Given the description of an element on the screen output the (x, y) to click on. 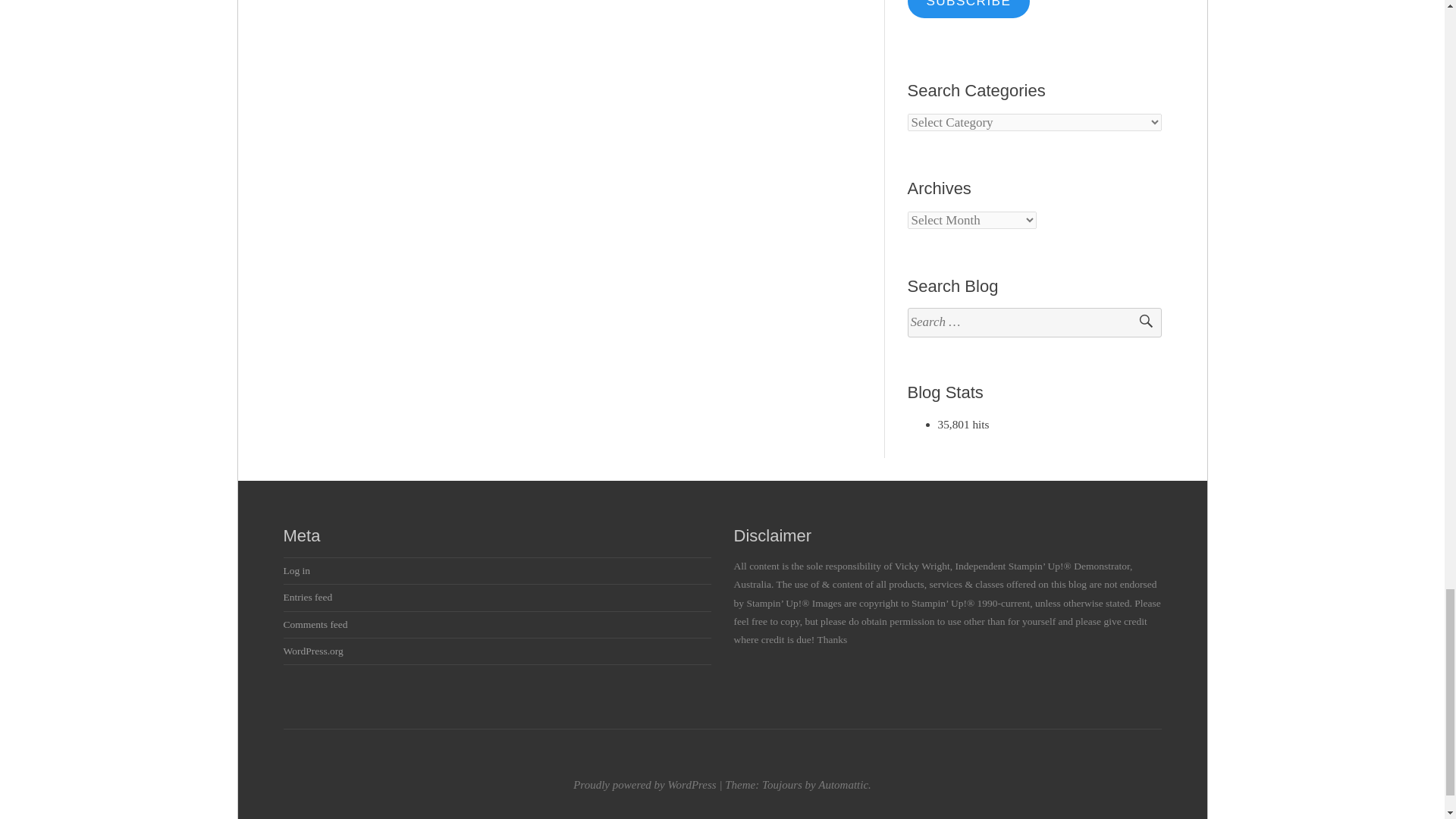
Search (1138, 322)
Search (1138, 322)
